Given the description of an element on the screen output the (x, y) to click on. 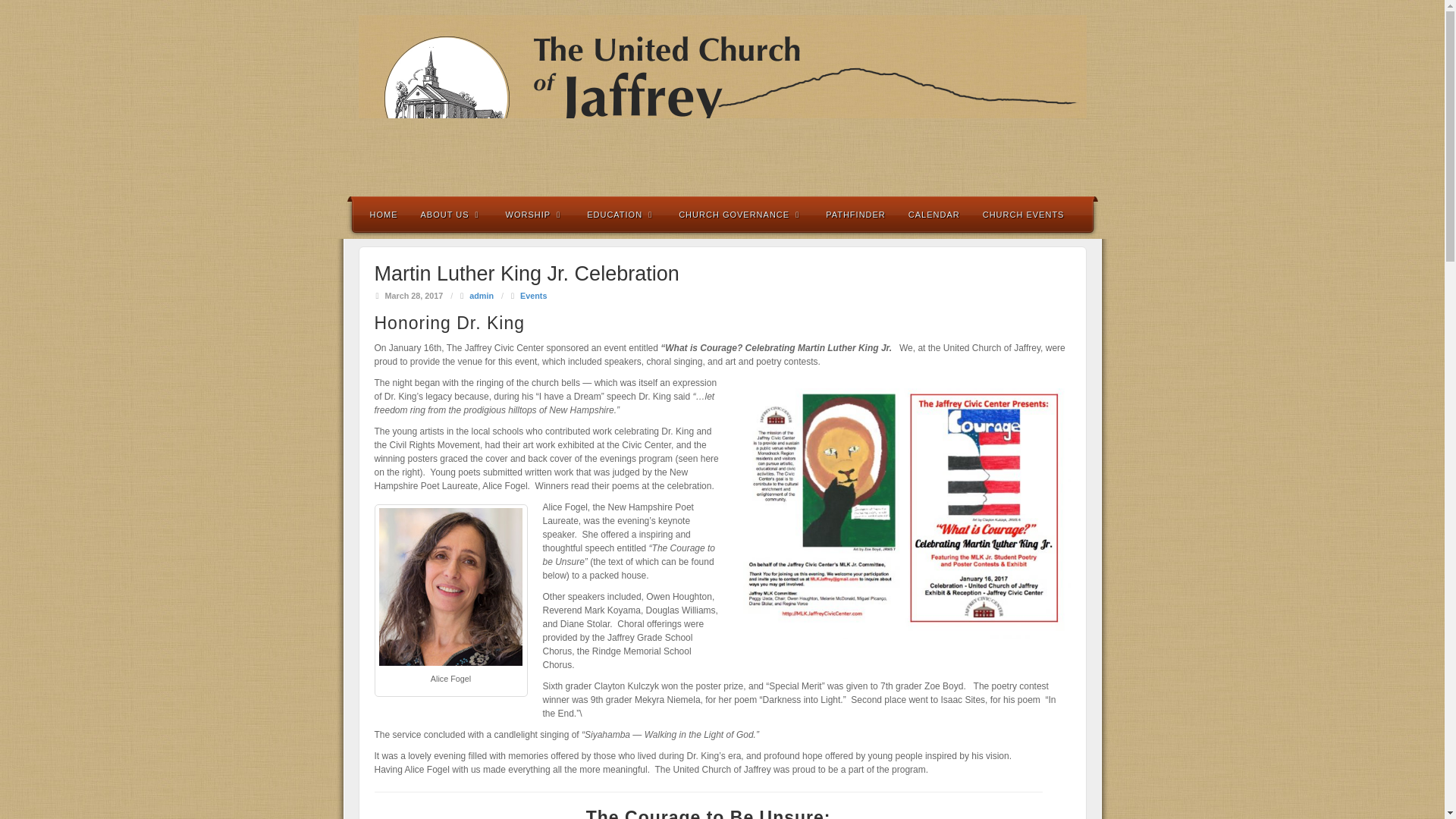
PATHFINDER (854, 213)
The United Church of Jaffrey (722, 96)
HOME (383, 213)
ABOUT US (452, 213)
CHURCH EVENTS (1023, 213)
WORSHIP (535, 213)
CHURCH GOVERNANCE (739, 213)
CALENDAR (933, 213)
EDUCATION (620, 213)
admin (480, 295)
View all posts by admin (480, 295)
Events (533, 295)
